Given the description of an element on the screen output the (x, y) to click on. 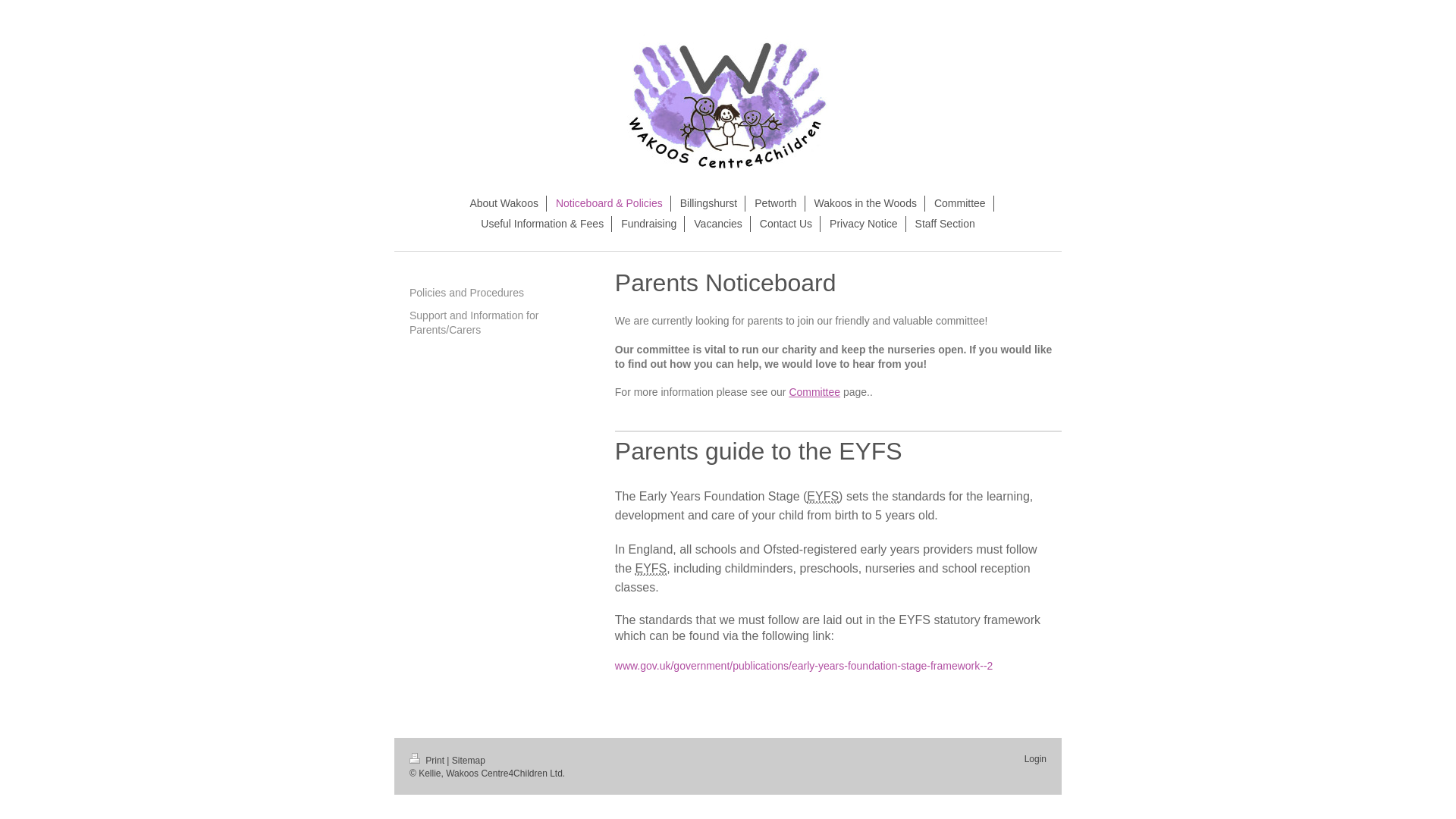
Fundraising (648, 223)
Wakoos in the Woods (865, 203)
Staff Section (944, 223)
Early years foundation stage (650, 568)
About Wakoos (504, 203)
Vacancies (718, 223)
Early years foundation stage (822, 496)
Committee (960, 203)
Privacy Notice (863, 223)
Contact Us (786, 223)
Billingshurst (708, 203)
Petworth (775, 203)
